Given the description of an element on the screen output the (x, y) to click on. 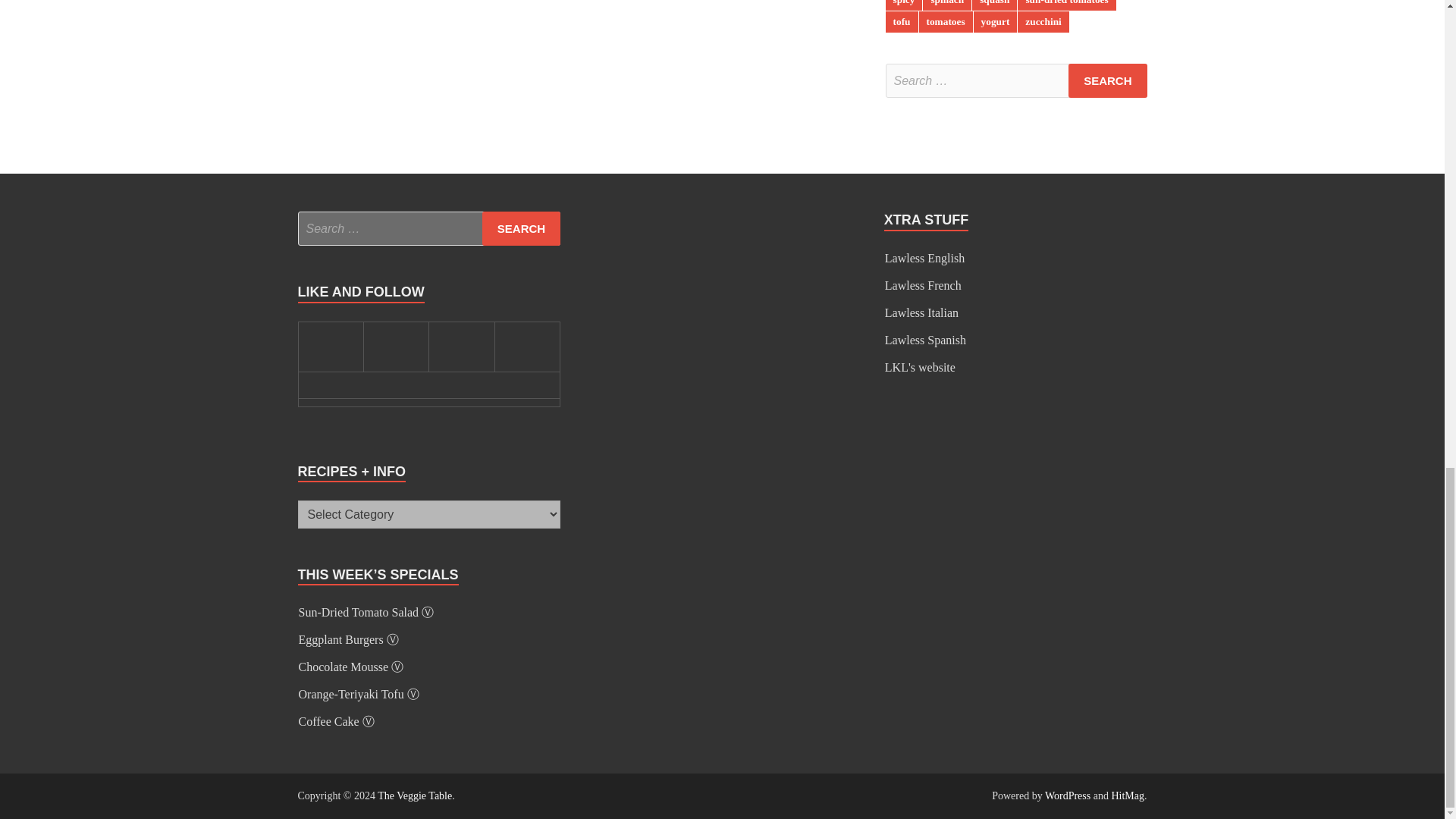
Search (520, 228)
WordPress (1067, 795)
Search (1107, 80)
HitMag WordPress Theme (1127, 795)
Learn French online (922, 285)
Learn English online (924, 257)
Search (1107, 80)
Search (520, 228)
The Veggie Table (414, 795)
